Given the description of an element on the screen output the (x, y) to click on. 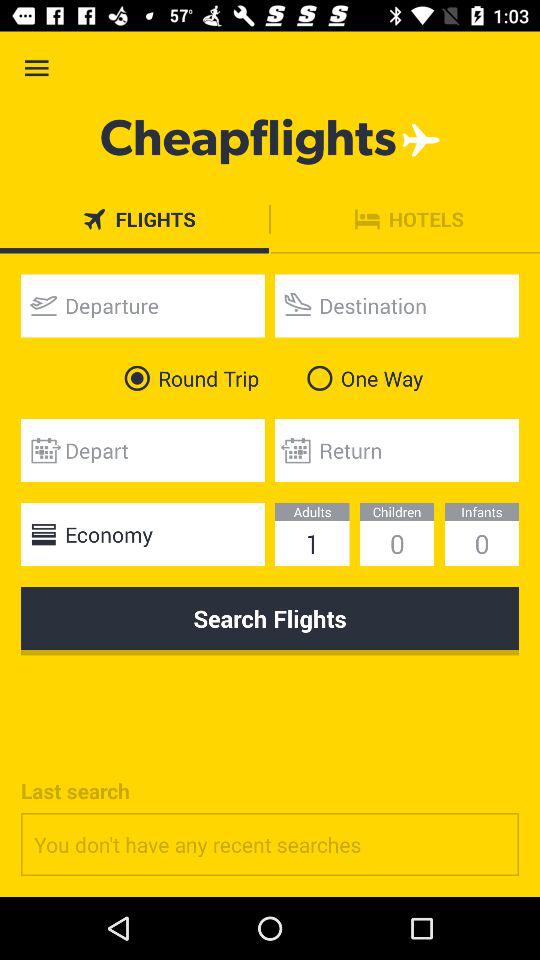
enter return date (397, 450)
